Given the description of an element on the screen output the (x, y) to click on. 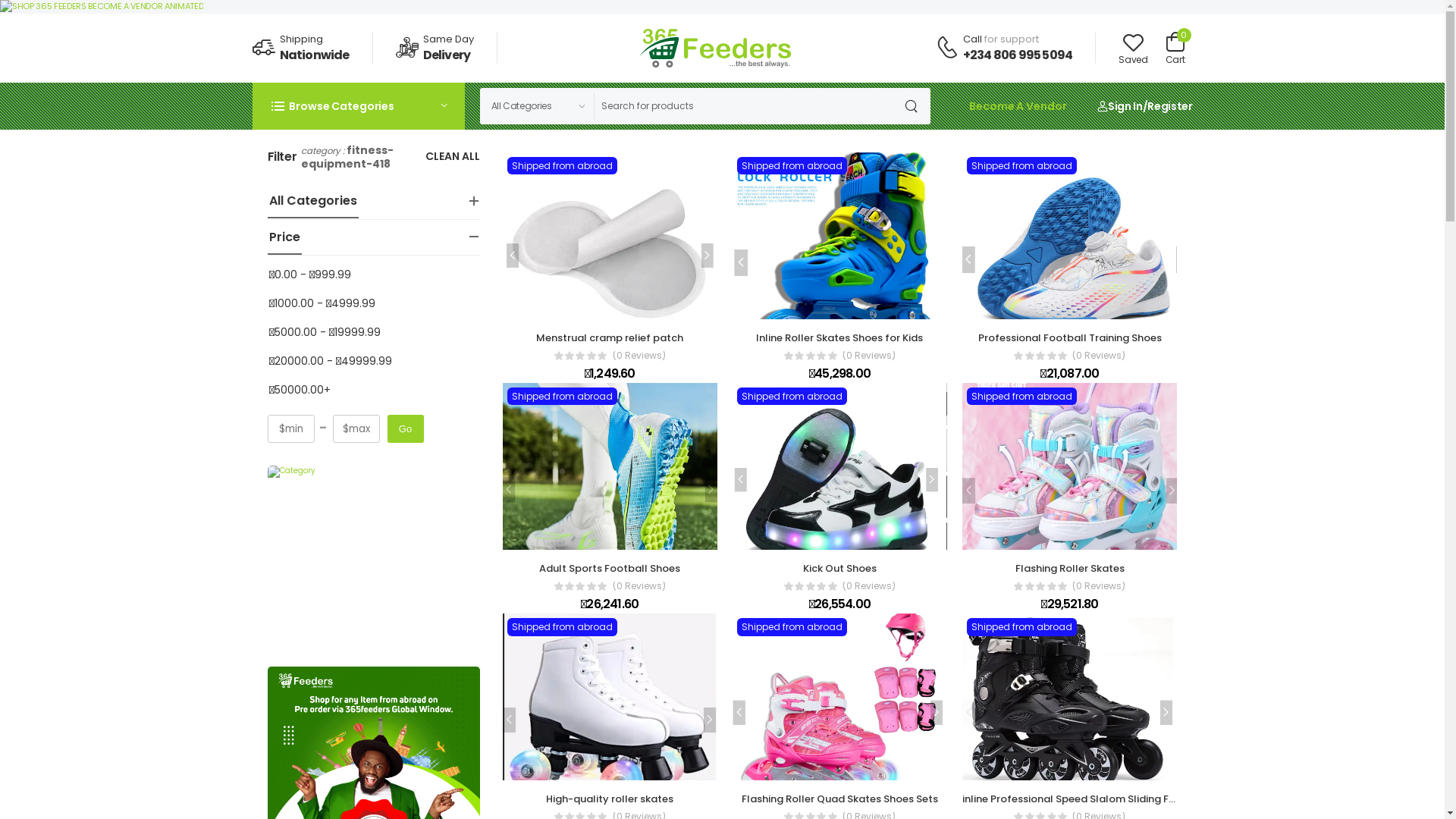
(0 Reviews) Element type: text (868, 355)
Saved Element type: text (1132, 48)
0
Cart Element type: text (1174, 47)
CLEAN ALL Element type: text (451, 156)
Browse Categories Element type: text (357, 105)
Register Element type: text (1169, 106)
Adult Sports Football Shoes Element type: text (609, 568)
Same Day Element type: text (448, 38)
Nationwide Element type: text (313, 54)
Professional Football Training Shoes Element type: text (1069, 337)
(0 Reviews) Element type: text (1098, 585)
Flashing Roller Skates Element type: text (1069, 568)
Inline Roller Skates Shoes for Kids Element type: text (839, 337)
(0 Reviews) Element type: text (638, 585)
(0 Reviews) Element type: text (1098, 355)
(0 Reviews) Element type: text (638, 355)
Flashing Roller Quad Skates Shoes Sets Element type: text (839, 798)
Become A Vendor Element type: text (1017, 106)
+234 806 995 5094 Element type: text (1017, 54)
Menstrual cramp relief patch Element type: text (609, 337)
Kick Out Shoes Element type: text (839, 568)
Sign In Element type: text (1119, 106)
Go Element type: text (404, 428)
Call Element type: text (972, 38)
(0 Reviews) Element type: text (868, 585)
Shipping Element type: text (300, 38)
High-quality roller skates Element type: text (609, 798)
Delivery Element type: text (446, 54)
inline Professional Speed Slalom Sliding Free Skating Element type: text (1093, 798)
